Given the description of an element on the screen output the (x, y) to click on. 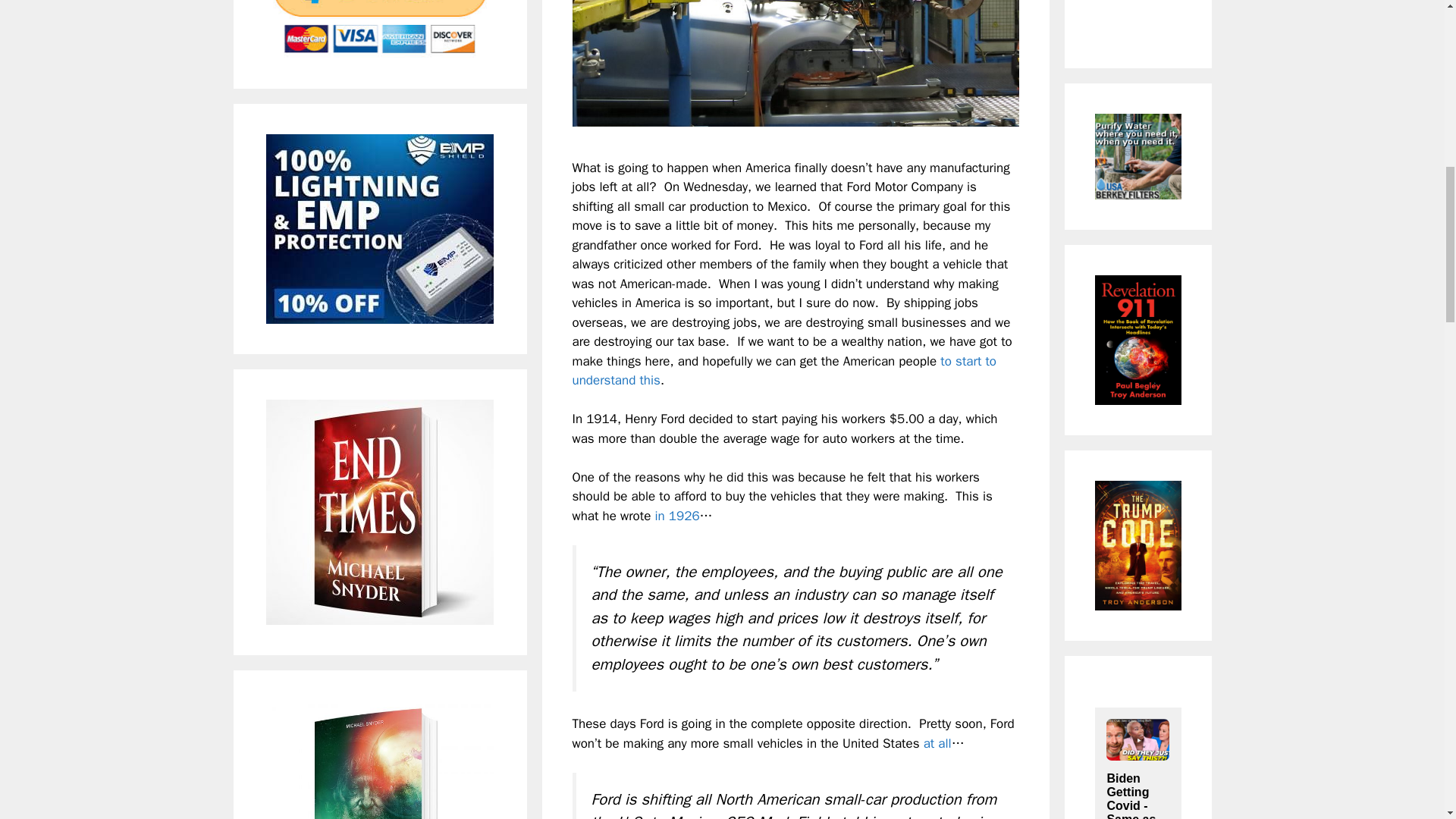
in 1926 (675, 515)
at all (937, 743)
to start to understand this (783, 370)
at all (937, 743)
in 1926 (675, 515)
to start to understand this (783, 370)
